Given the description of an element on the screen output the (x, y) to click on. 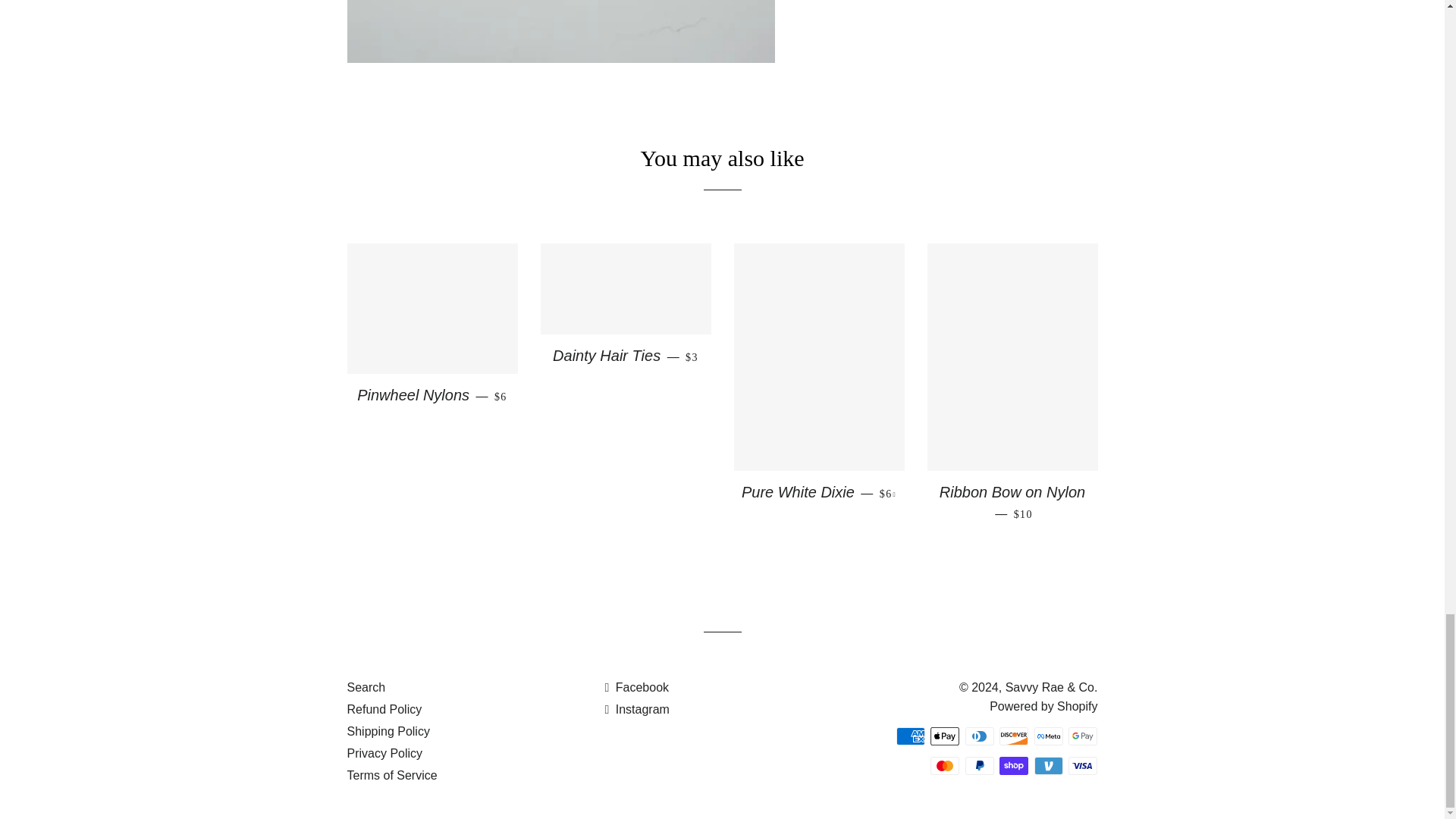
PayPal (979, 765)
Shop Pay (1012, 765)
Meta Pay (1047, 736)
Mastercard (944, 765)
Visa (1082, 765)
Venmo (1047, 765)
Diners Club (979, 736)
Apple Pay (944, 736)
Google Pay (1082, 736)
Discover (1012, 736)
American Express (910, 736)
